Given the description of an element on the screen output the (x, y) to click on. 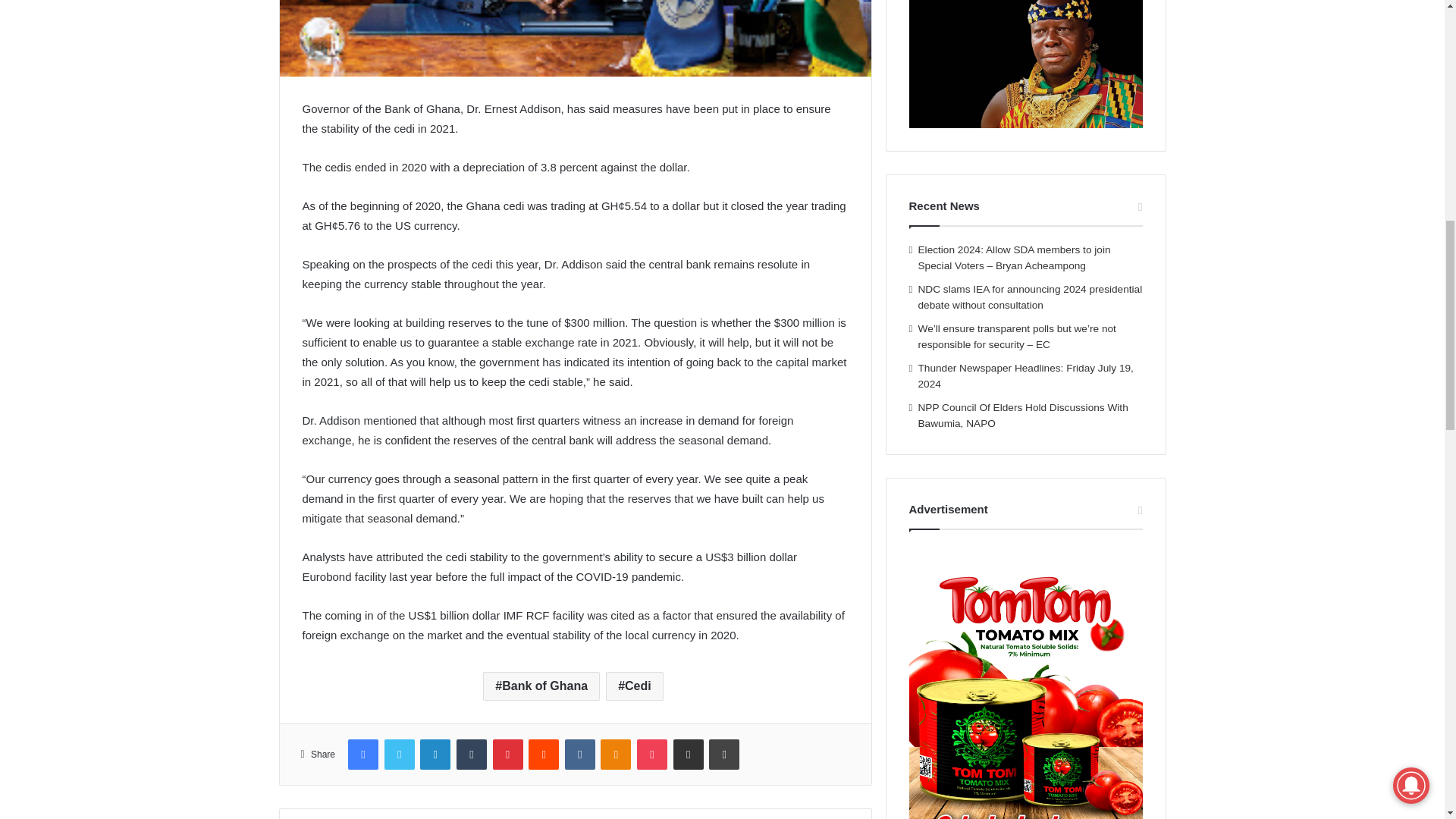
Bank of Ghana (541, 686)
Cedi (634, 686)
